Given the description of an element on the screen output the (x, y) to click on. 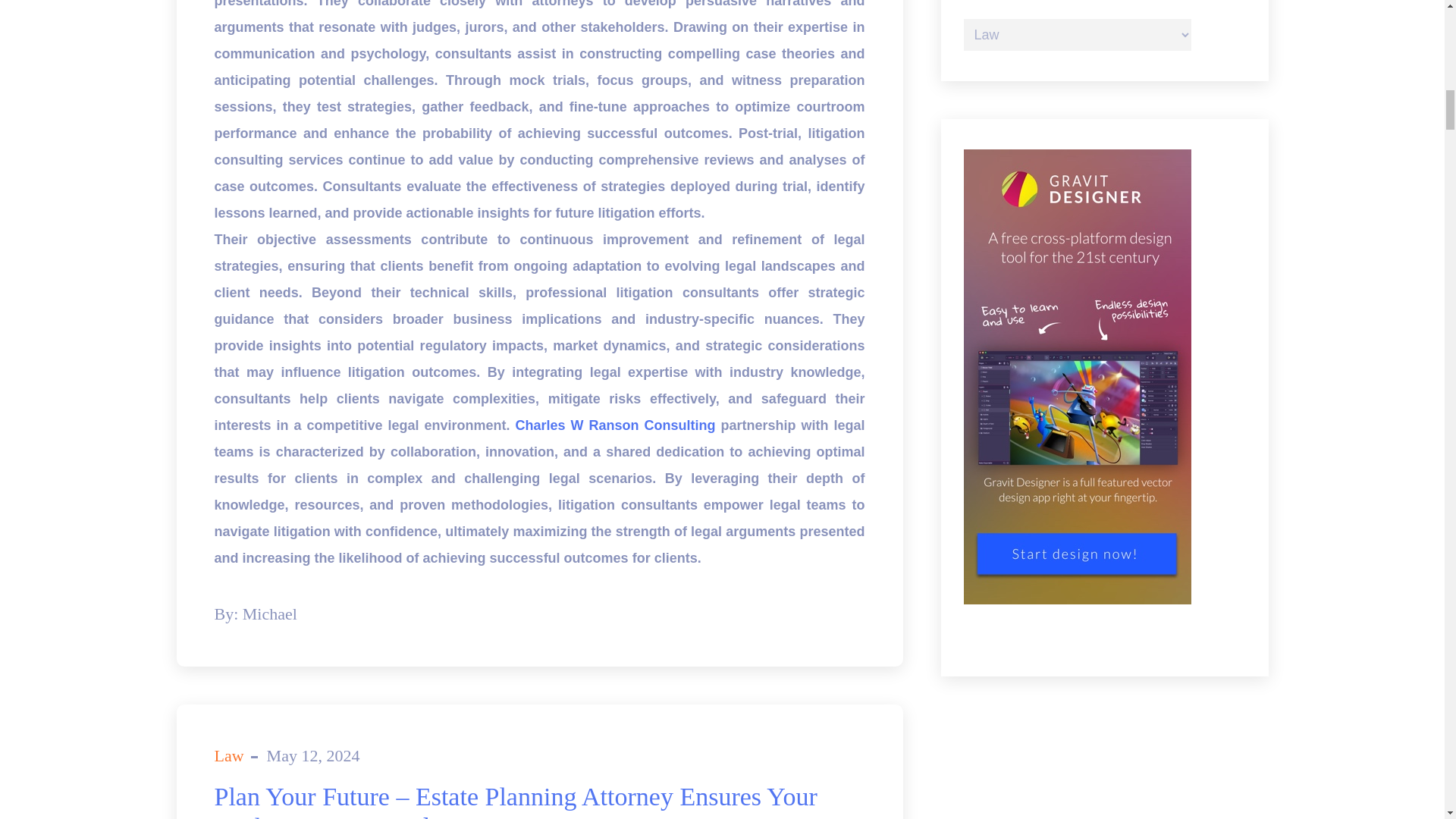
Charles W Ranson Consulting (615, 425)
May 12, 2024 (312, 755)
Law (228, 755)
Michael (270, 613)
